Given the description of an element on the screen output the (x, y) to click on. 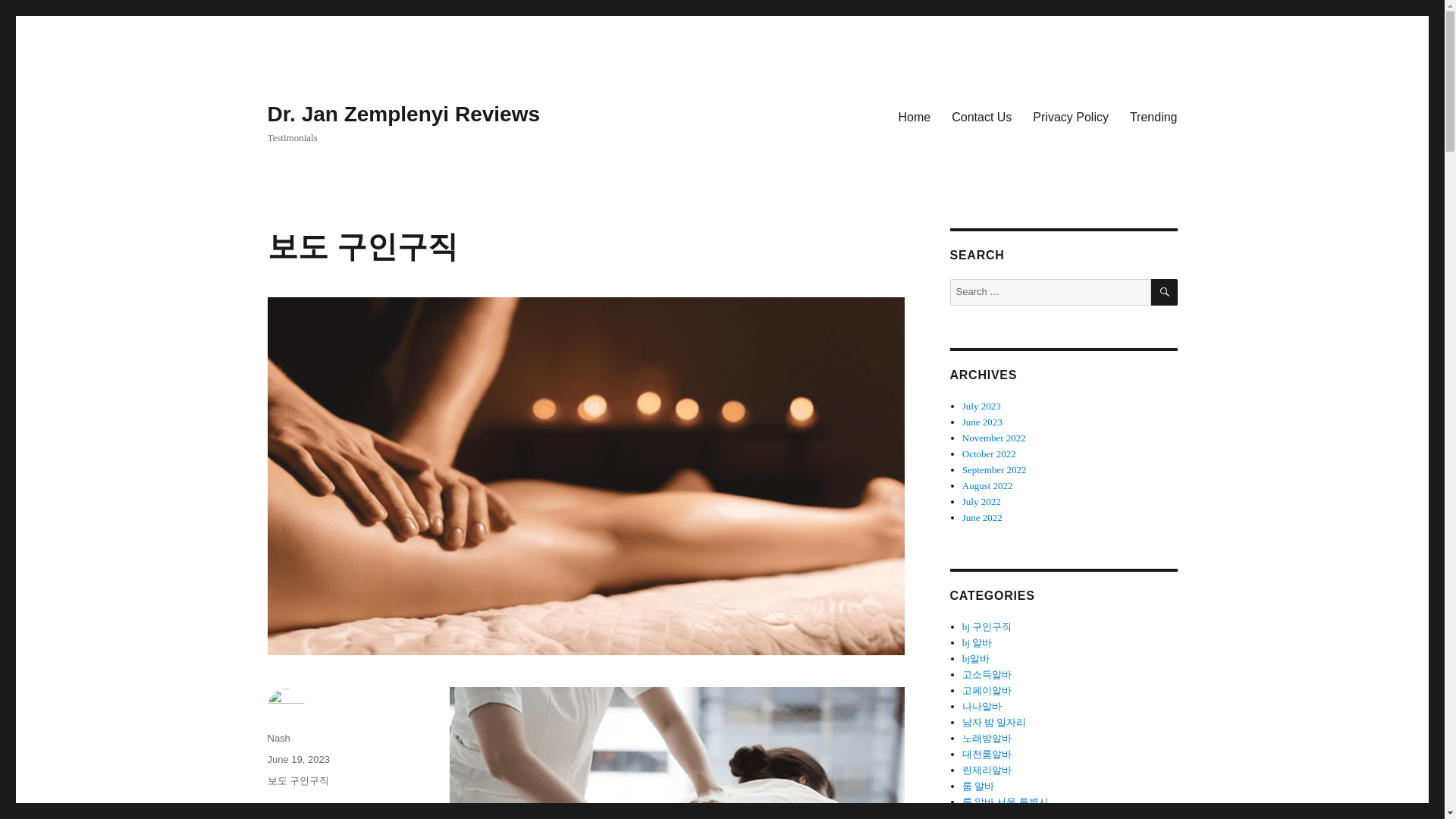
November 2022 (994, 437)
Trending (1153, 116)
Home (915, 116)
July 2023 (981, 405)
October 2022 (989, 453)
Privacy Policy (1070, 116)
Dr. Jan Zemplenyi Reviews (403, 114)
June 2022 (982, 517)
Nash (277, 737)
SEARCH (1164, 292)
August 2022 (987, 485)
July 2022 (981, 501)
June 2023 (982, 421)
Contact Us (981, 116)
June 19, 2023 (297, 758)
